Given the description of an element on the screen output the (x, y) to click on. 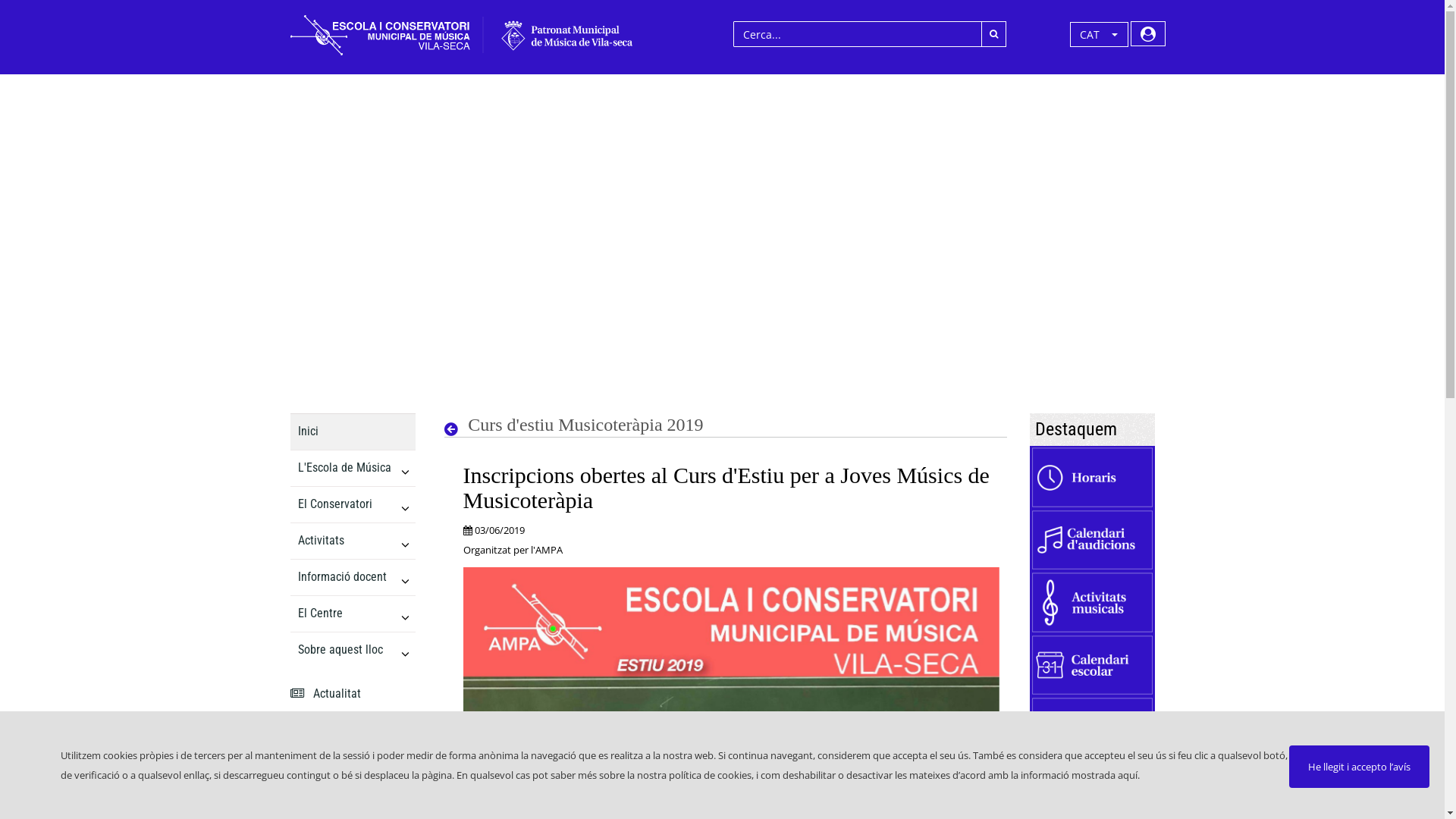
    Contacte Element type: text (342, 730)
CAT
  Element type: text (1099, 34)
Activitats Element type: text (342, 540)
    Actualitat Element type: text (342, 693)
El Conservatori Element type: text (342, 504)
El Centre Element type: text (342, 613)
Inici Element type: text (342, 431)
Sobre aquest lloc Element type: text (342, 649)
